Given the description of an element on the screen output the (x, y) to click on. 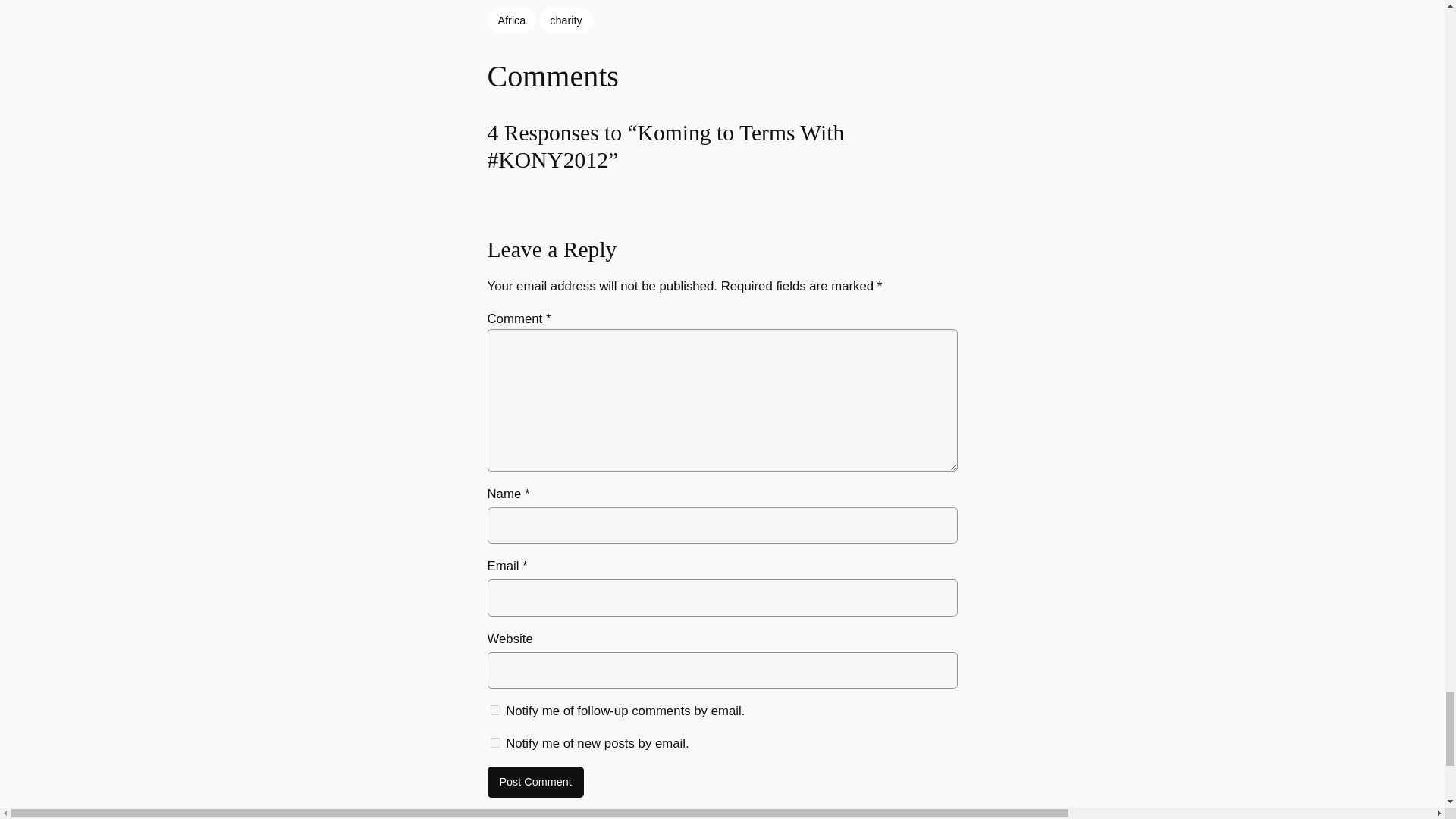
subscribe (494, 709)
subscribe (494, 742)
Post Comment (534, 782)
